Given the description of an element on the screen output the (x, y) to click on. 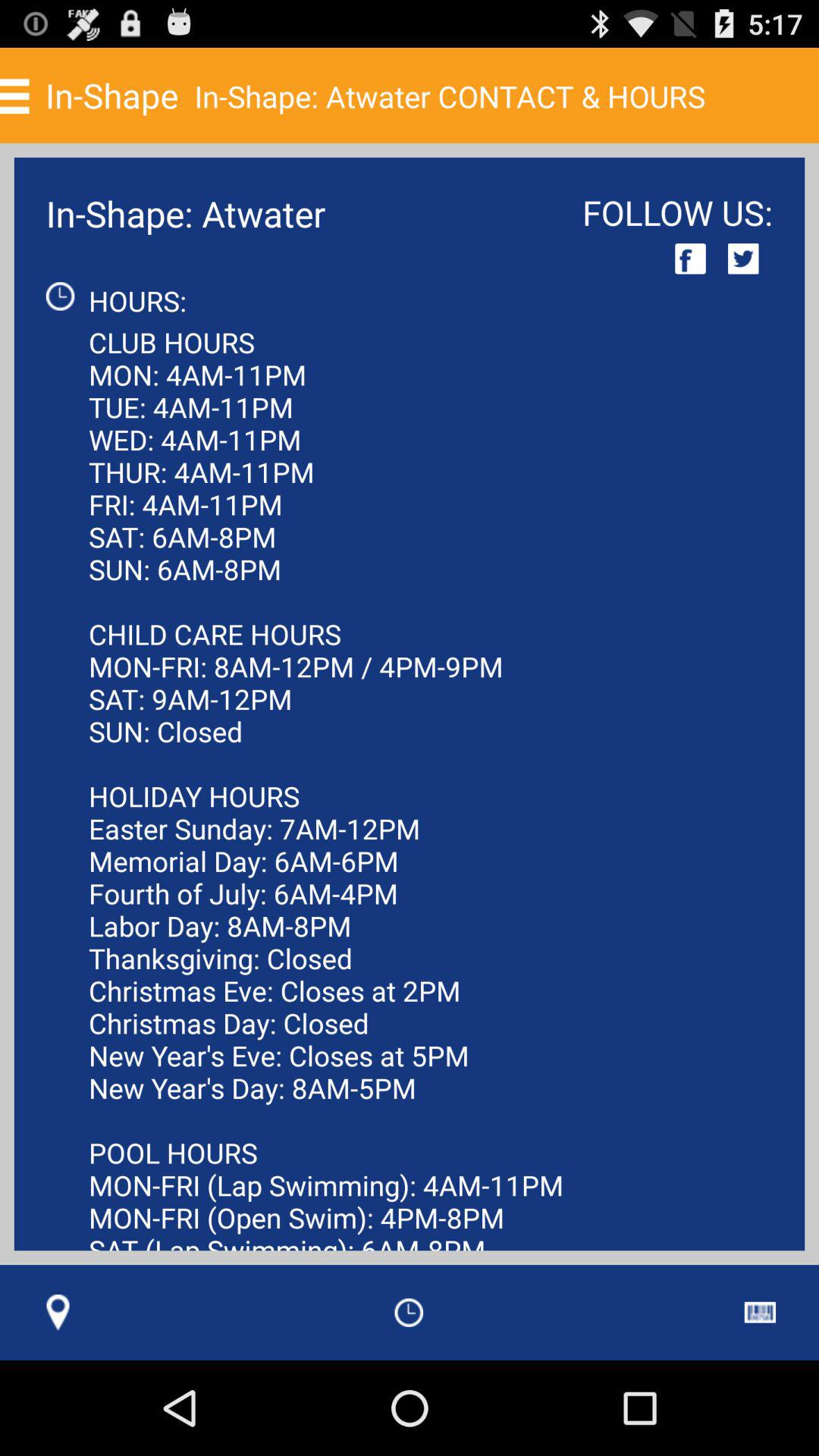
click icon next to in-shape: atwater app (690, 258)
